Given the description of an element on the screen output the (x, y) to click on. 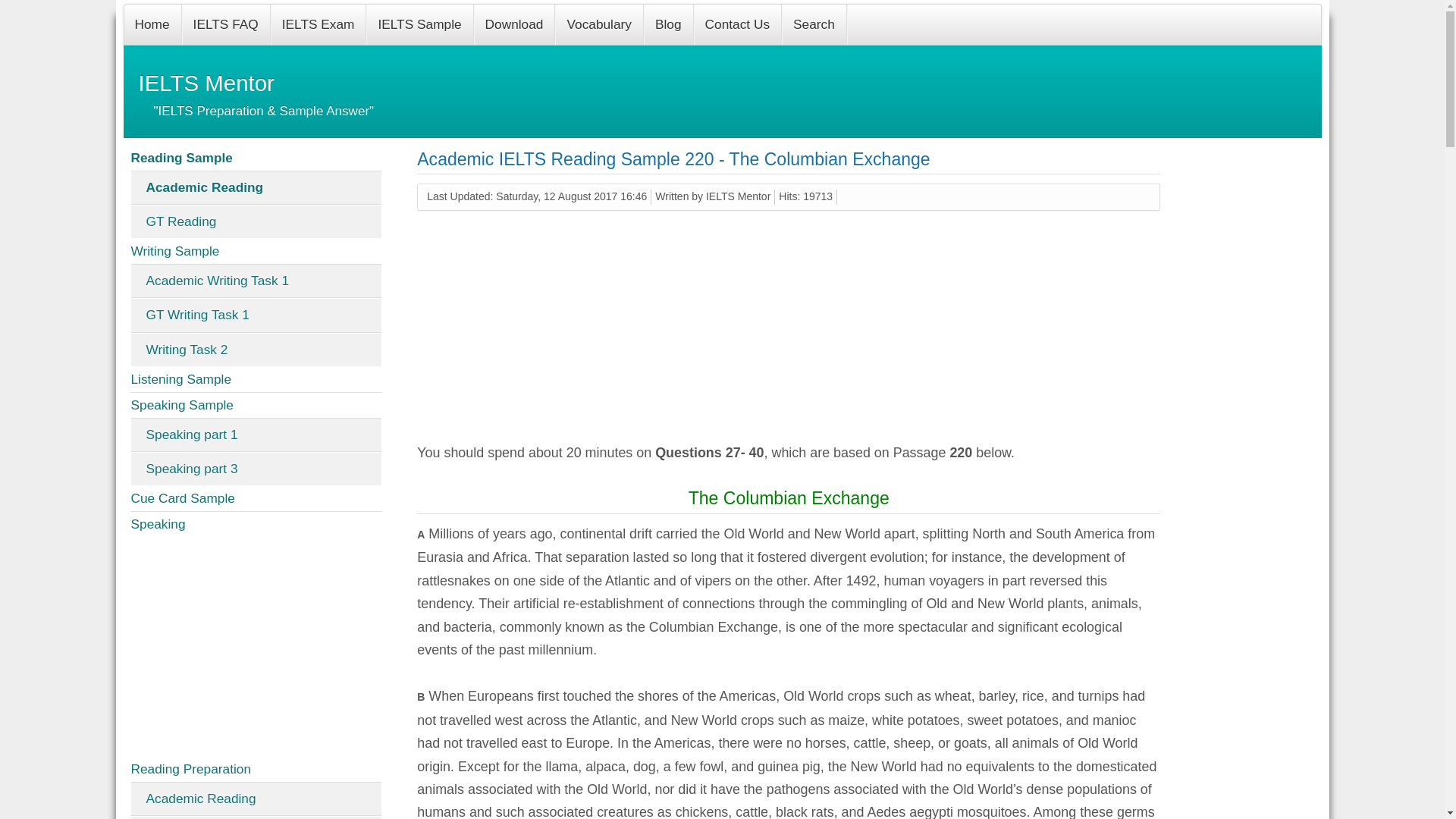
Reading Sample (256, 158)
IELTS FAQ (226, 24)
Search (814, 24)
Download (515, 24)
Blog (668, 24)
IELTS Sample (419, 24)
Home (151, 24)
Speaking part 3 (256, 468)
Cue Card Sample (256, 498)
Writing Task 2 (256, 349)
Reading Preparation (256, 769)
GT Reading (256, 221)
Vocabulary (598, 24)
